Given the description of an element on the screen output the (x, y) to click on. 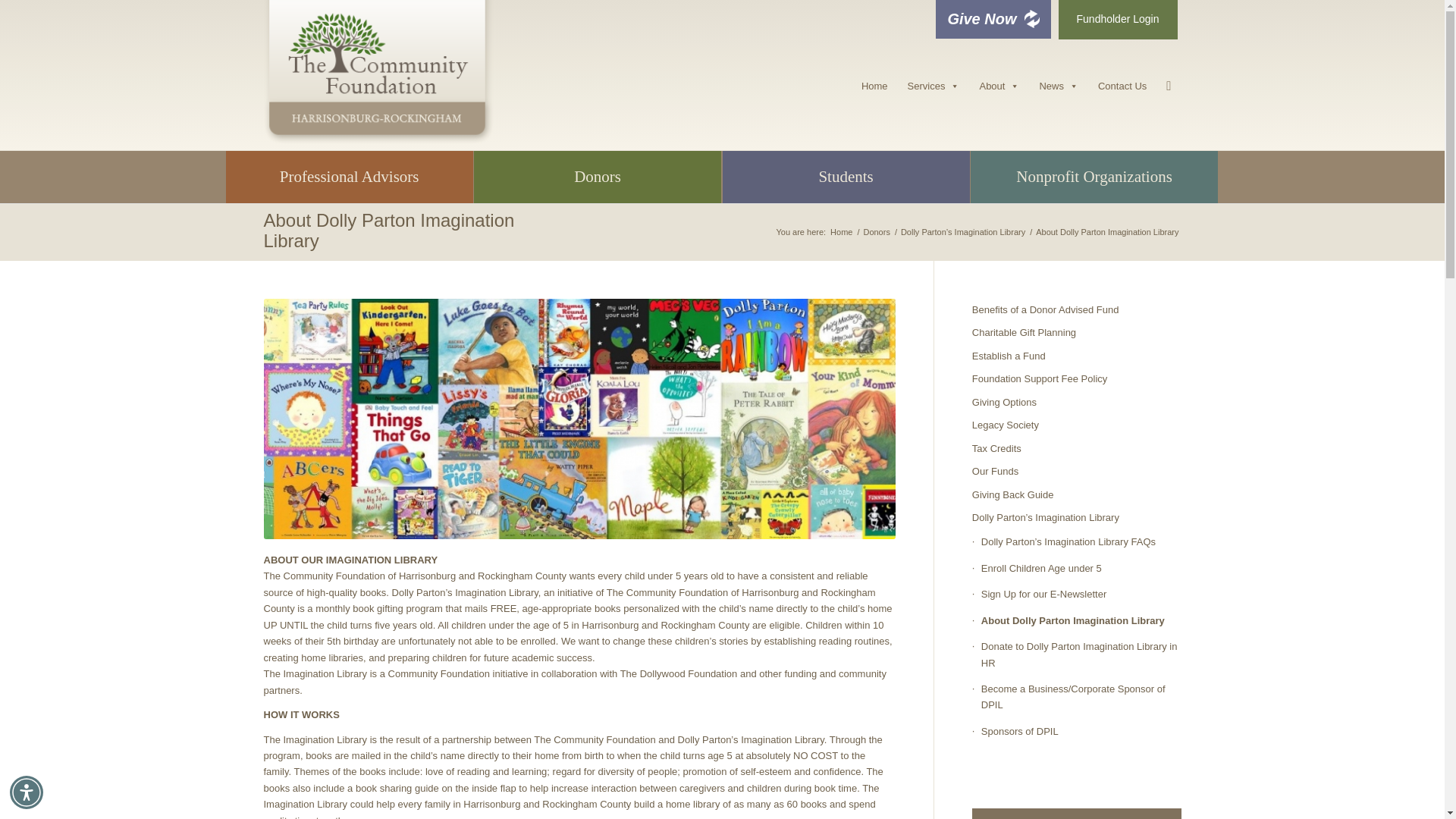
Accessibility Menu (26, 792)
The Community Foundation (841, 232)
Fundholder Login (1117, 19)
Donors (875, 232)
Give Now (992, 19)
Permanent Link: About Dolly Parton Imagination Library (389, 229)
